Given the description of an element on the screen output the (x, y) to click on. 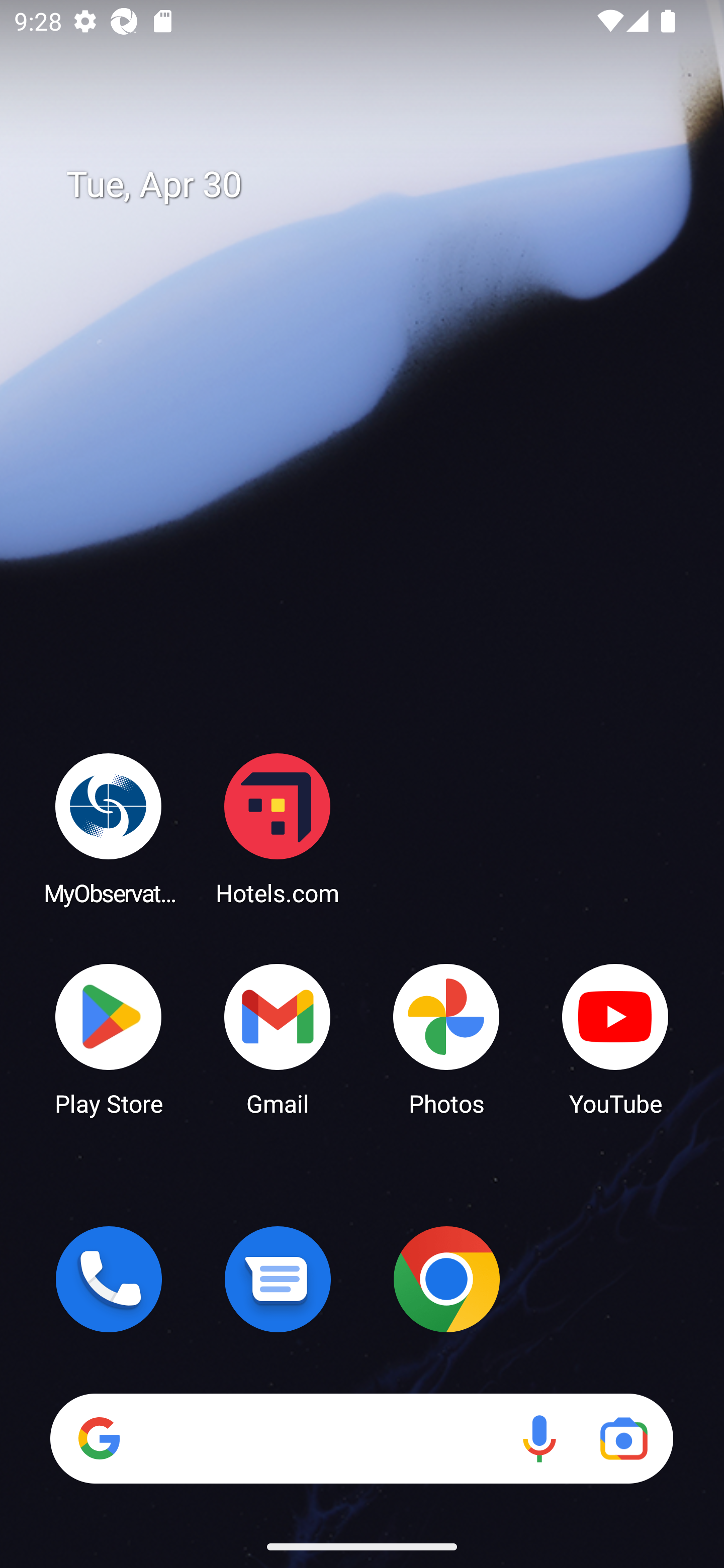
Tue, Apr 30 (375, 184)
MyObservatory (108, 828)
Hotels.com (277, 828)
Play Store (108, 1038)
Gmail (277, 1038)
Photos (445, 1038)
YouTube (615, 1038)
Phone (108, 1279)
Messages (277, 1279)
Chrome (446, 1279)
Voice search (539, 1438)
Google Lens (623, 1438)
